Given the description of an element on the screen output the (x, y) to click on. 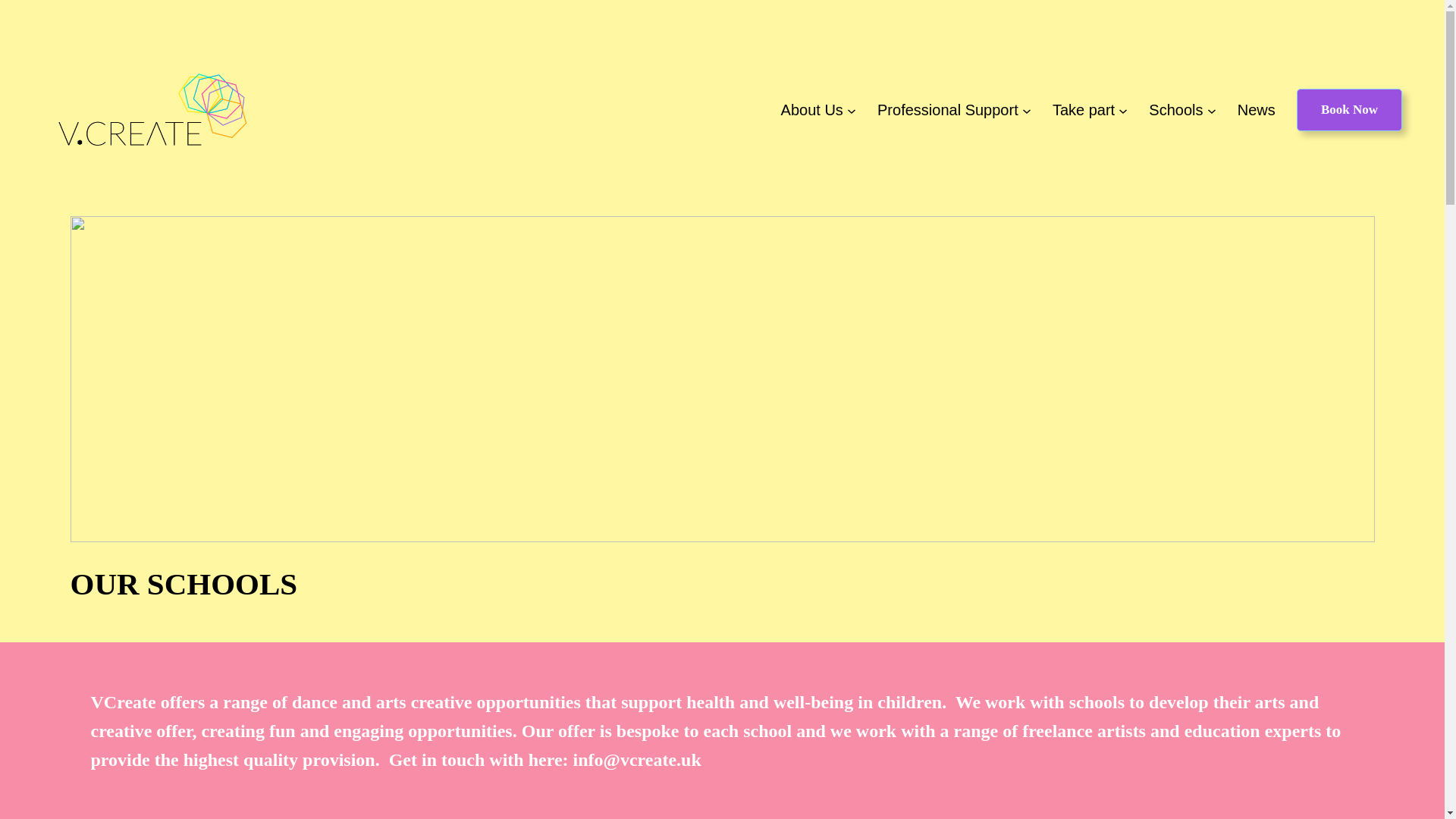
Book Now (1349, 109)
About Us (811, 109)
Take part (1083, 109)
Schools (1175, 109)
News (1256, 109)
Professional Support (947, 109)
